Given the description of an element on the screen output the (x, y) to click on. 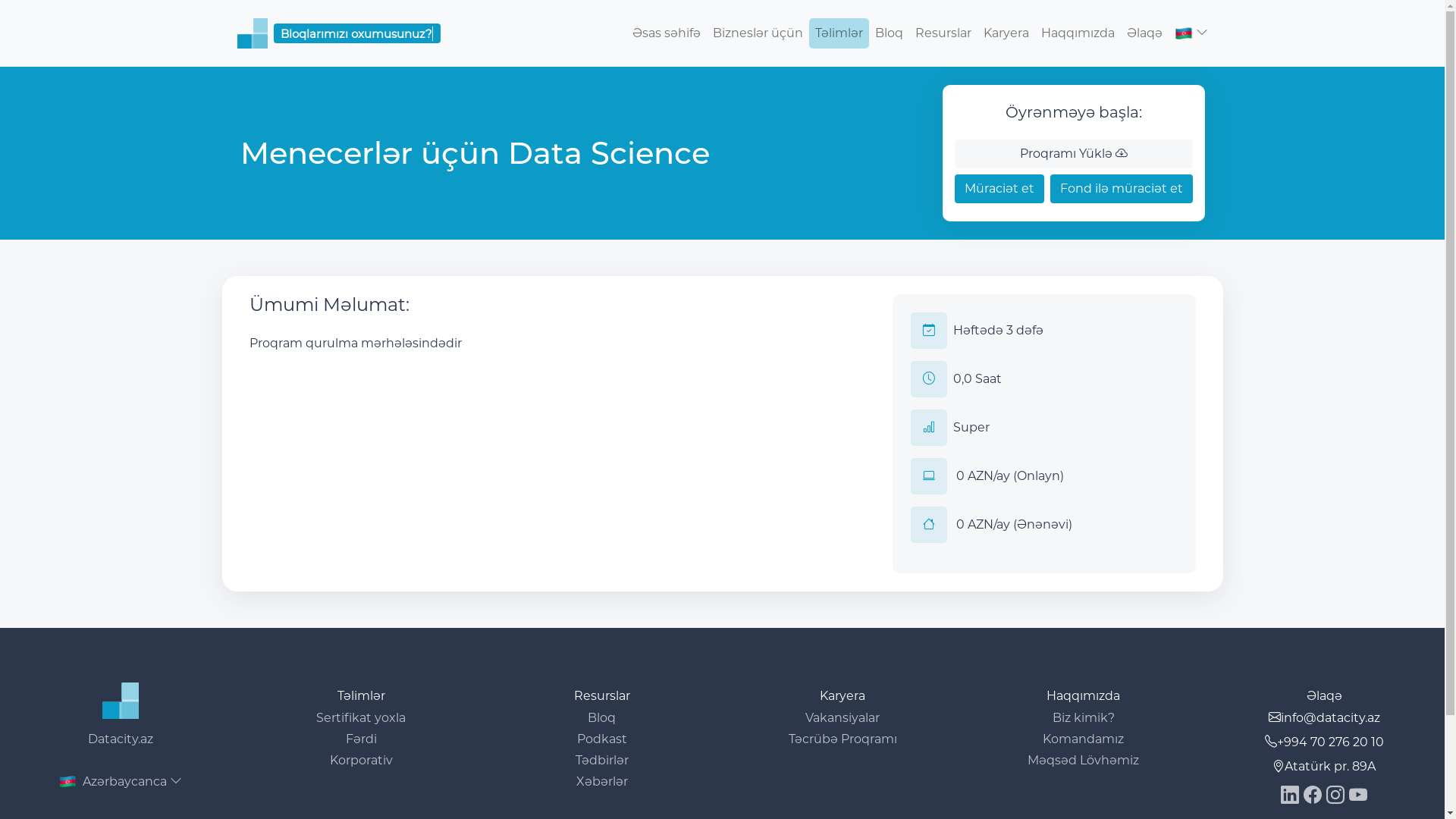
Karyera Element type: text (1005, 33)
Bloq Element type: text (889, 33)
Bloq Element type: text (601, 717)
Resurslar Element type: text (942, 33)
Biz kimik? Element type: text (1083, 717)
Vakansiyalar Element type: text (842, 717)
Sertifikat yoxla Element type: text (360, 717)
Podkast Element type: text (602, 738)
Korporativ Element type: text (360, 760)
